Given the description of an element on the screen output the (x, y) to click on. 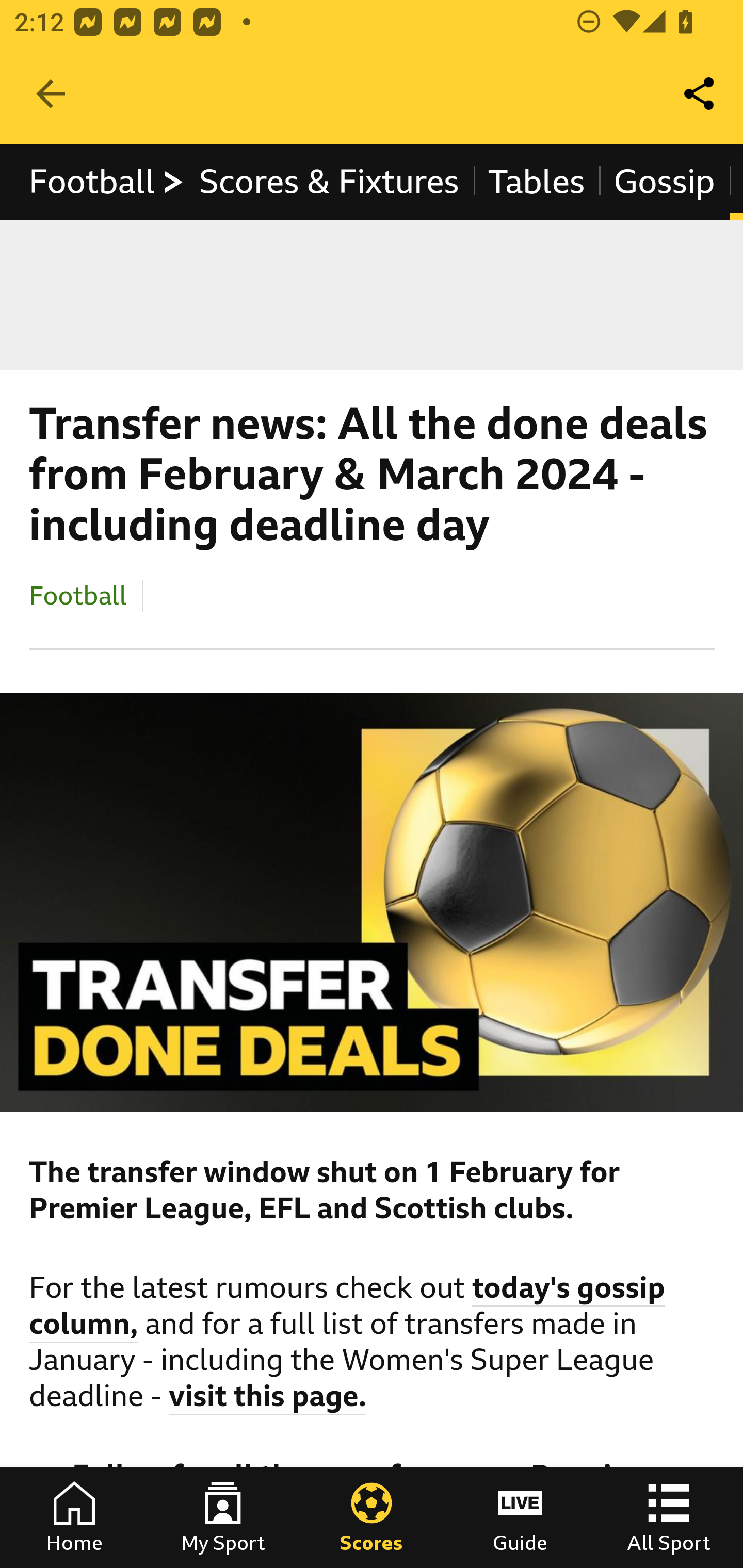
Navigate up (50, 93)
Share (699, 93)
Football  (106, 181)
Scores & Fixtures (329, 181)
Tables (536, 181)
Gossip (664, 181)
Football (77, 594)
today's gossip column, (347, 1307)
visit this page. (267, 1398)
Home (74, 1517)
My Sport (222, 1517)
Guide (519, 1517)
All Sport (668, 1517)
